Given the description of an element on the screen output the (x, y) to click on. 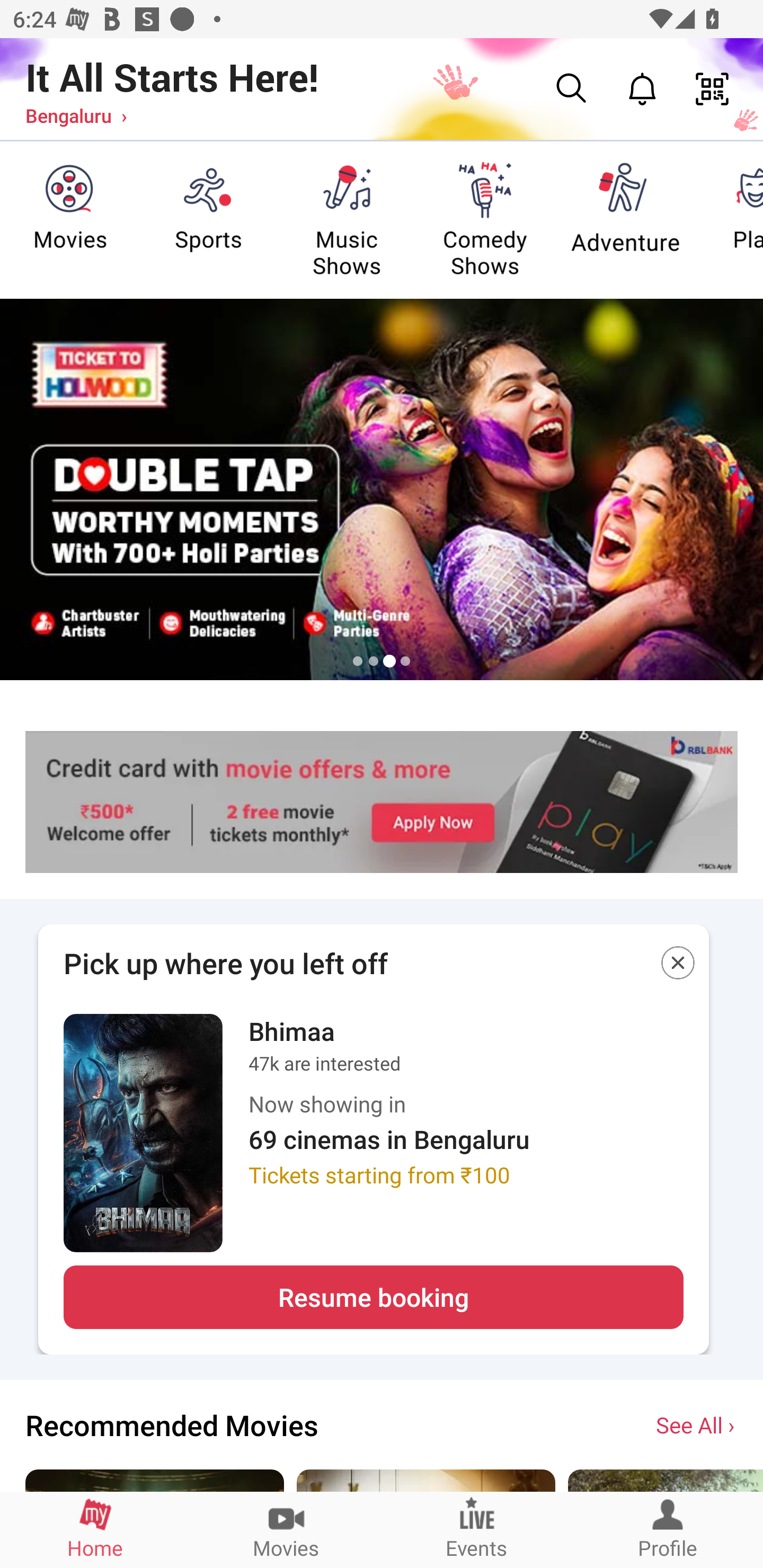
Bengaluru  › (76, 114)
  (678, 966)
Resume booking (373, 1297)
See All › (696, 1424)
Home (95, 1529)
Movies (285, 1529)
Events (476, 1529)
Profile (667, 1529)
